Given the description of an element on the screen output the (x, y) to click on. 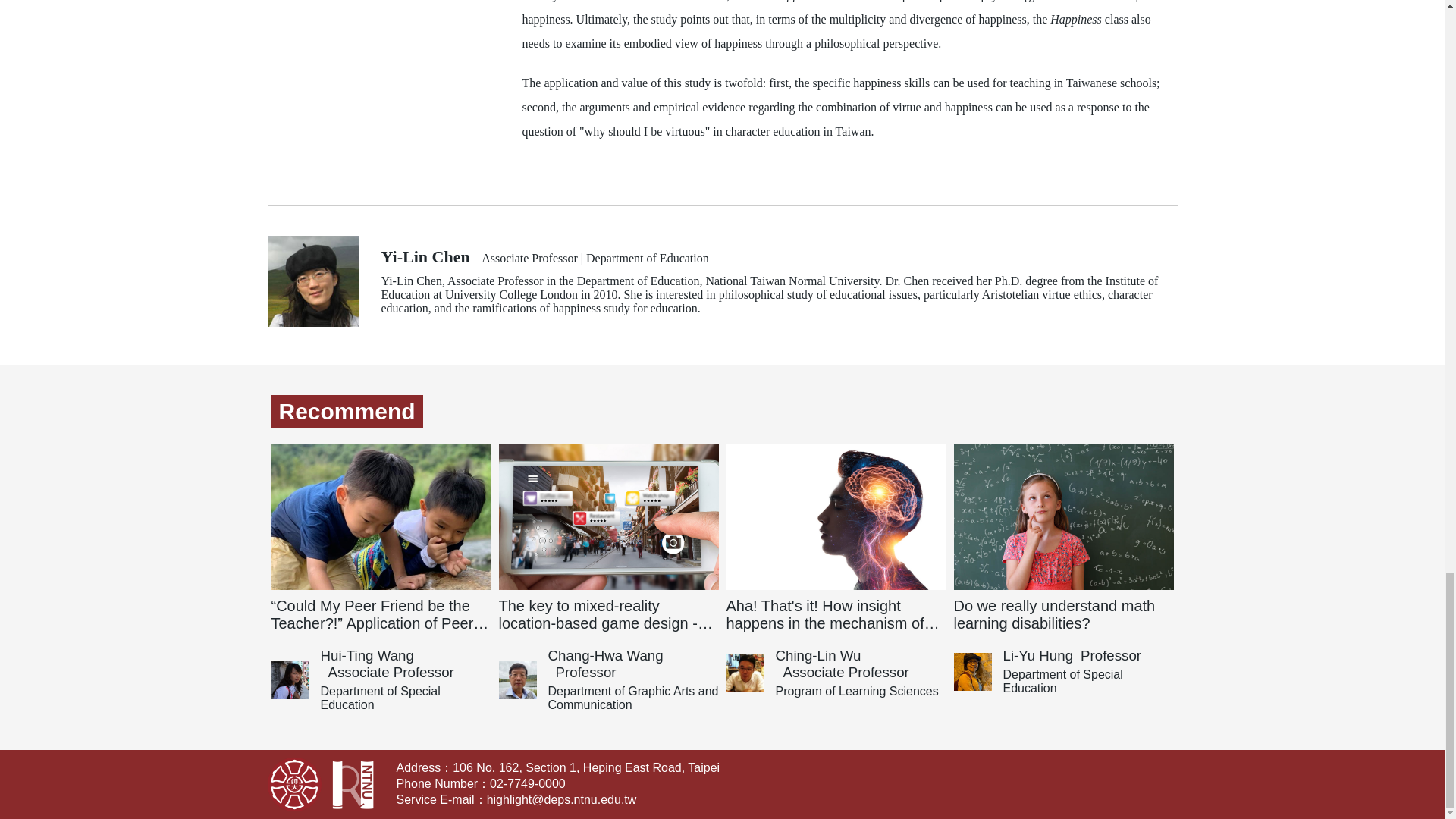
Yi-Lin Chen (424, 256)
